Given the description of an element on the screen output the (x, y) to click on. 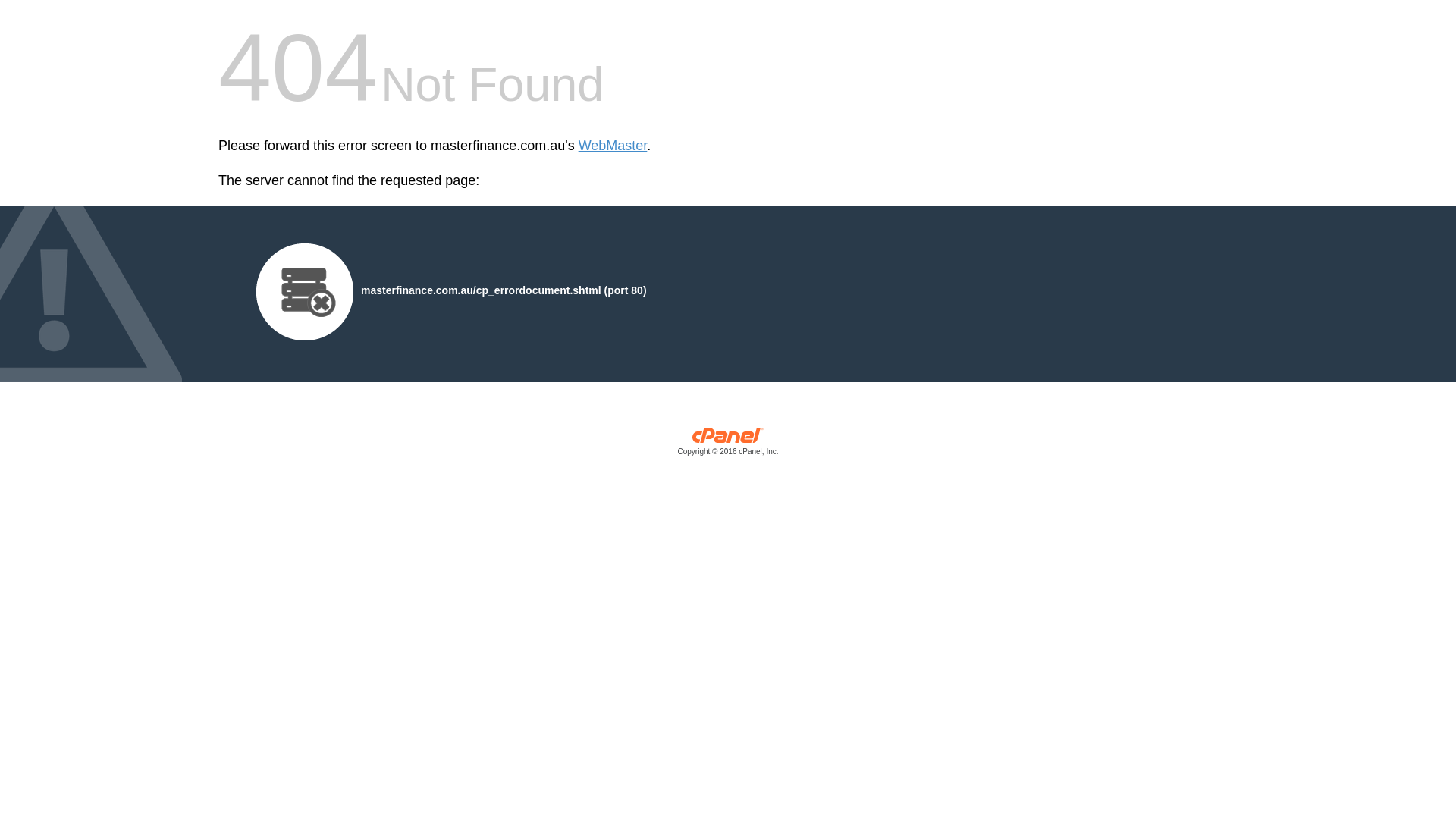
WebMaster Element type: text (612, 145)
